Given the description of an element on the screen output the (x, y) to click on. 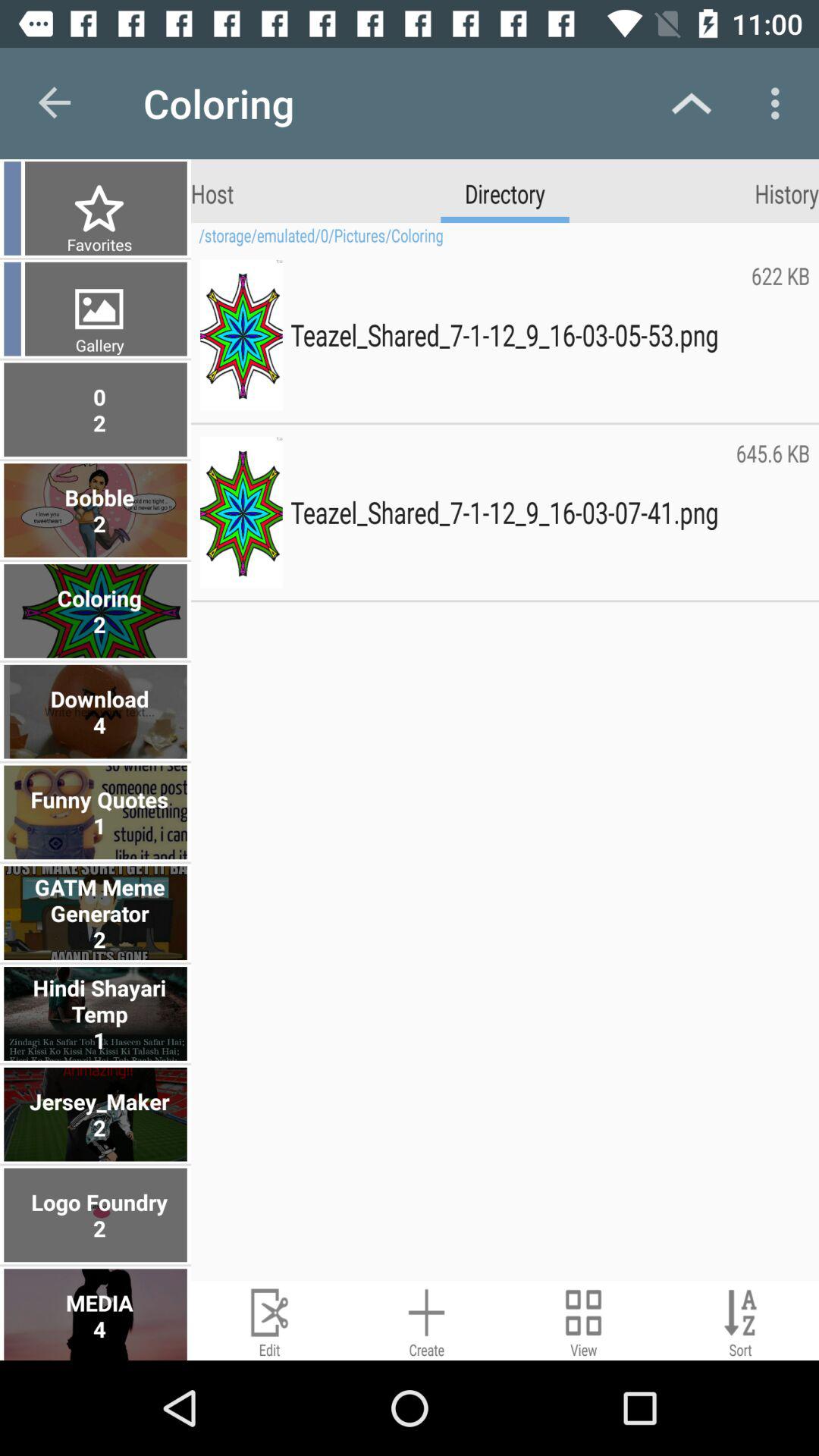
jump until 645.6 kb icon (772, 512)
